Given the description of an element on the screen output the (x, y) to click on. 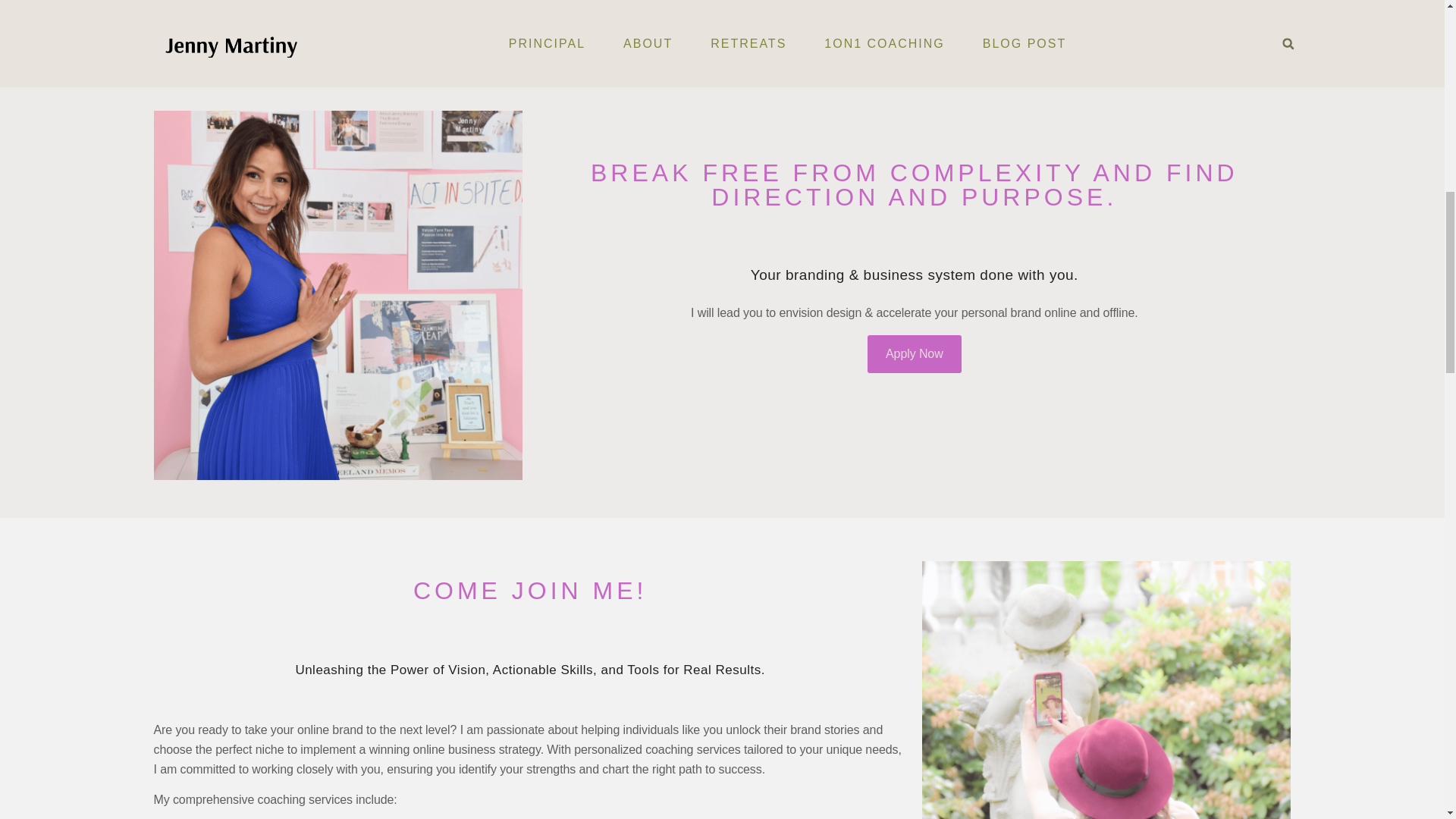
Apply Now (913, 353)
